Given the description of an element on the screen output the (x, y) to click on. 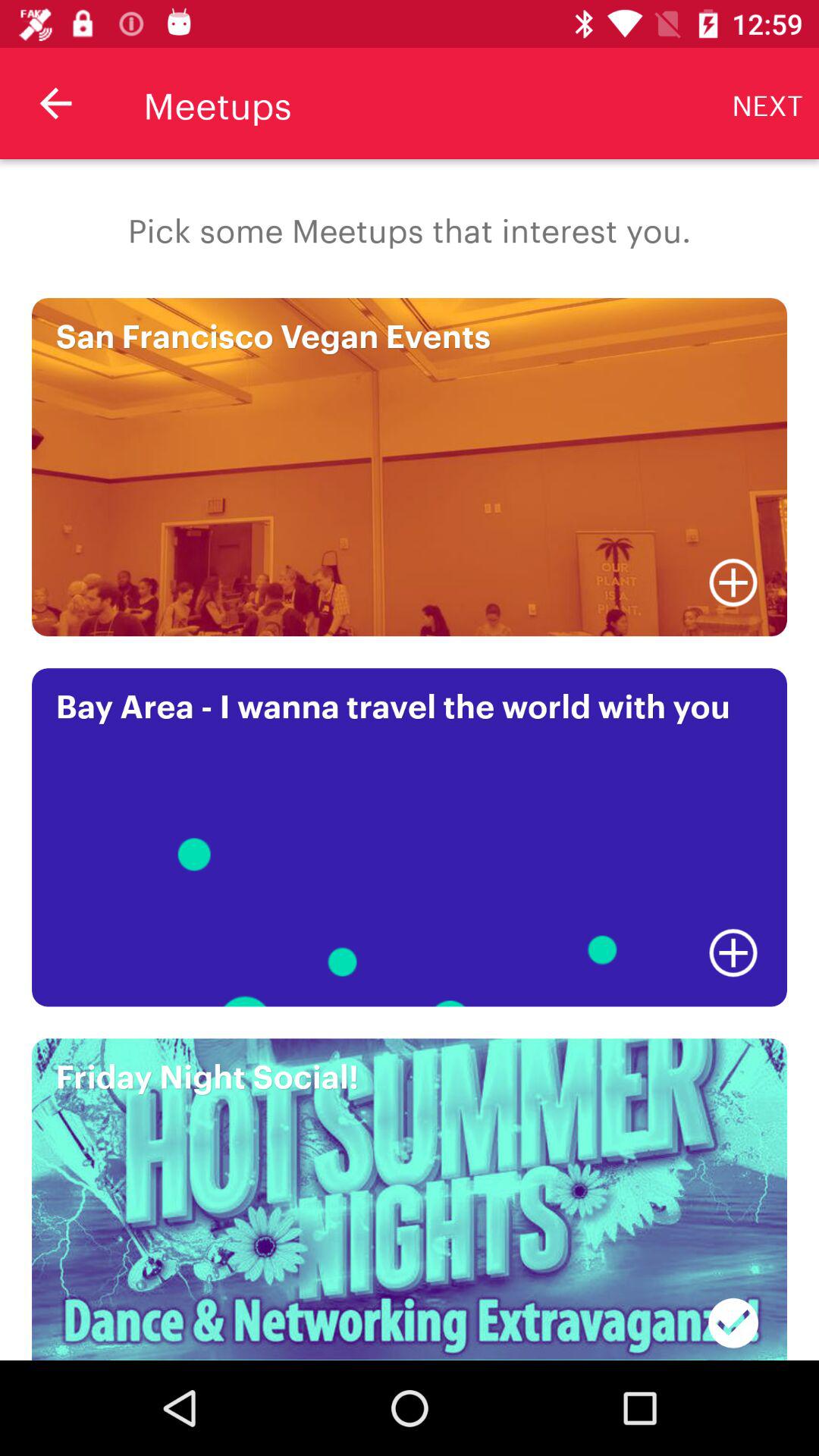
flip to next item (767, 103)
